Given the description of an element on the screen output the (x, y) to click on. 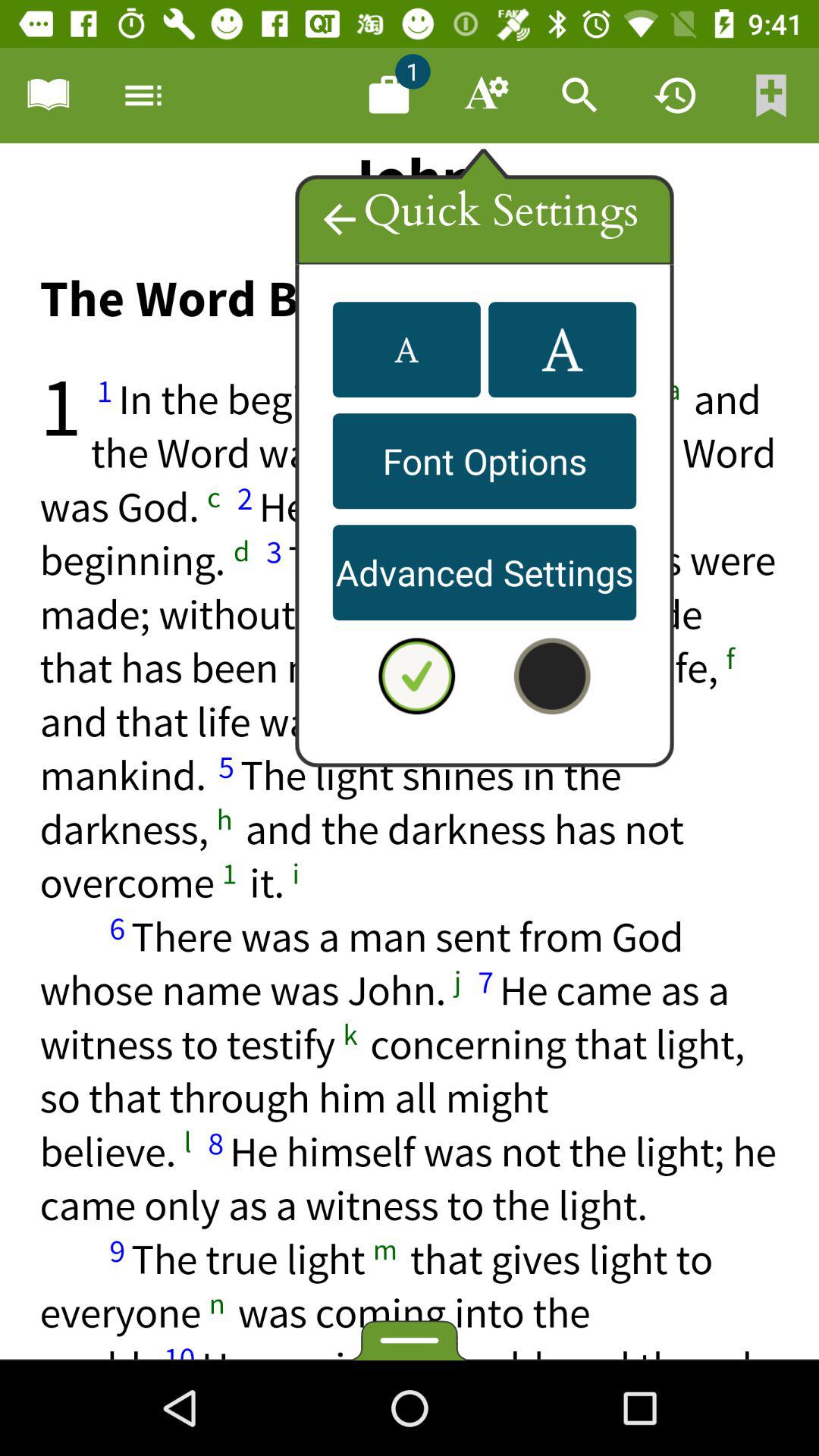
font size (406, 349)
